Given the description of an element on the screen output the (x, y) to click on. 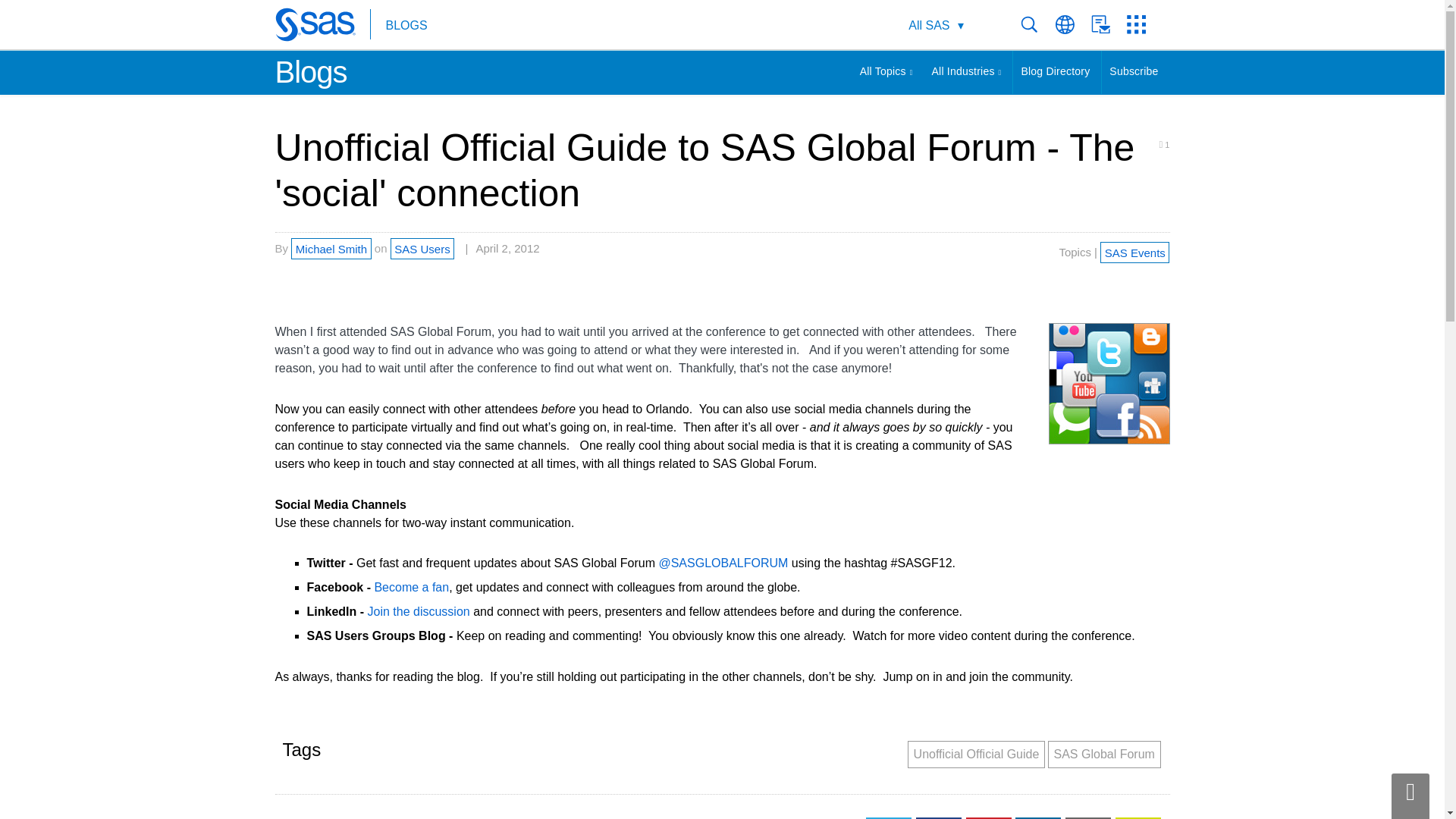
All SAS (935, 25)
Contact Us (1108, 24)
SAS Events (1134, 251)
Follow SAS Global Forum on Twitter (724, 562)
Posts by Michael Smith (331, 248)
Search (1037, 24)
Software (927, 25)
Worldwide Sites (1072, 24)
SAS Sites (1141, 24)
